Given the description of an element on the screen output the (x, y) to click on. 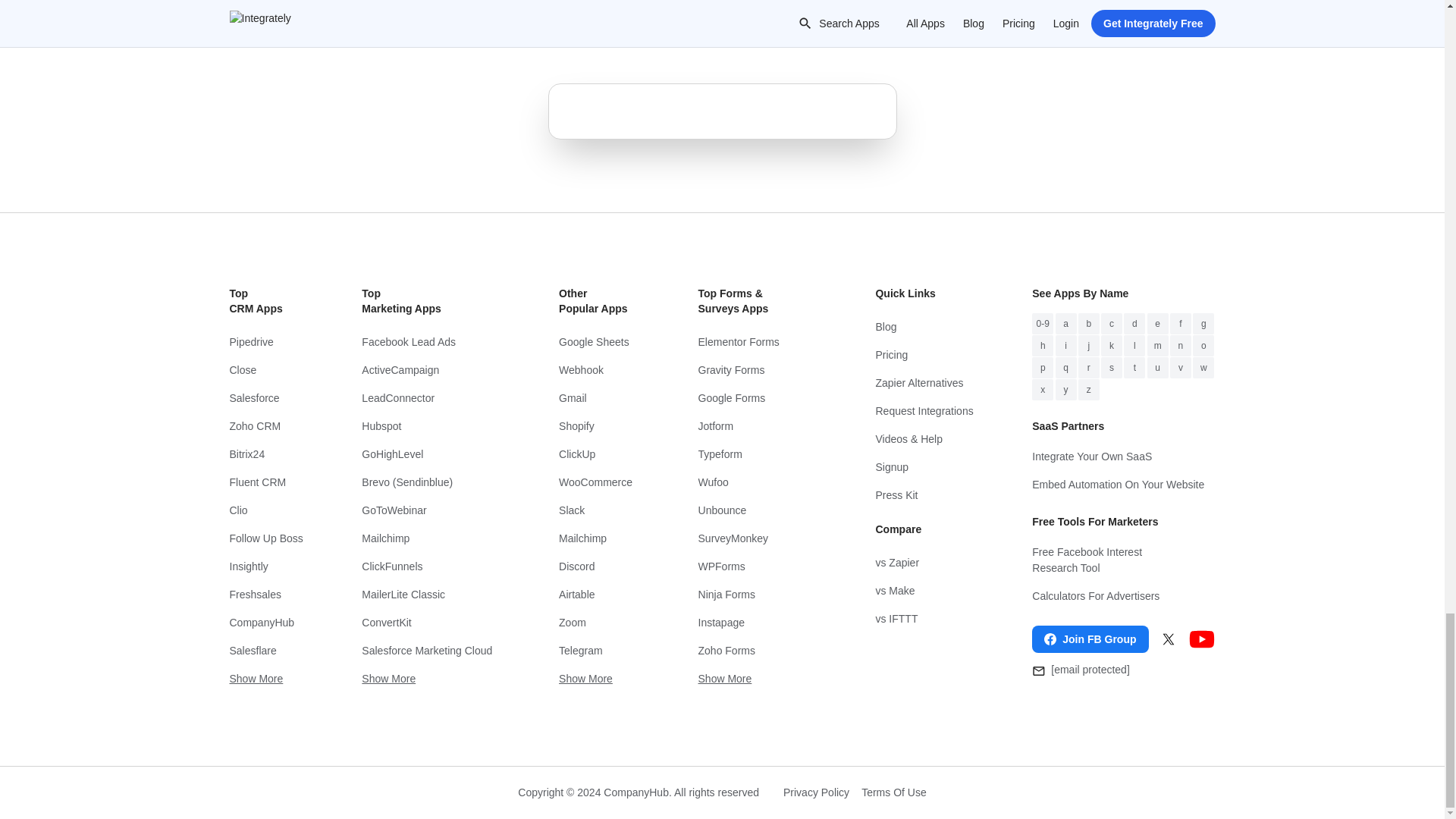
LeadConnector (430, 398)
Zoho CRM (265, 426)
GoHighLevel (430, 454)
Clio (265, 510)
Integrately YouTube channel (1201, 638)
Pipedrive (265, 342)
Hubspot (430, 426)
Close (265, 370)
Follow Up Boss (265, 538)
ClickFunnels (430, 566)
